Given the description of an element on the screen output the (x, y) to click on. 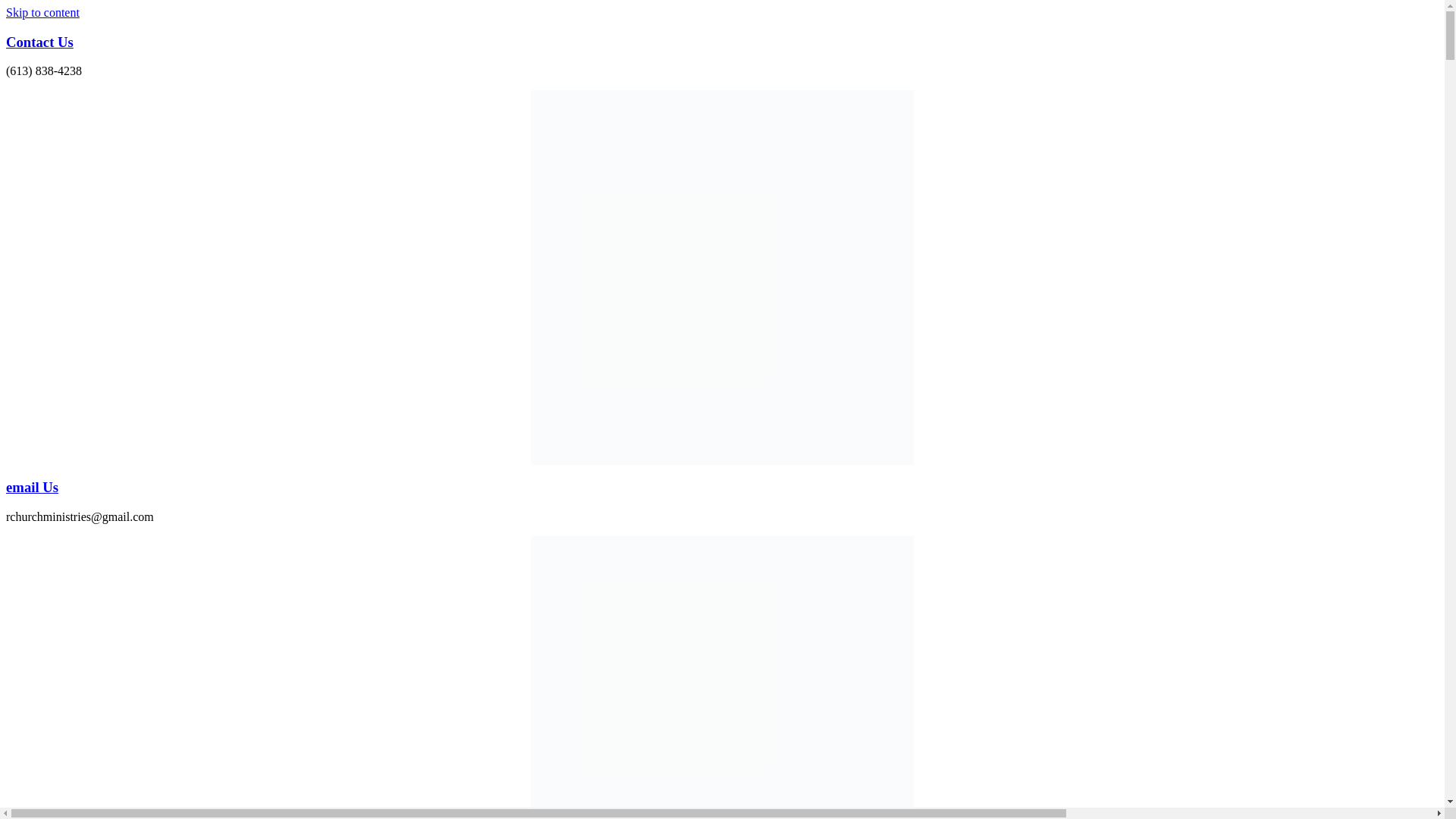
Skip to content (42, 11)
Contact Us (39, 41)
email Us (31, 487)
